Given the description of an element on the screen output the (x, y) to click on. 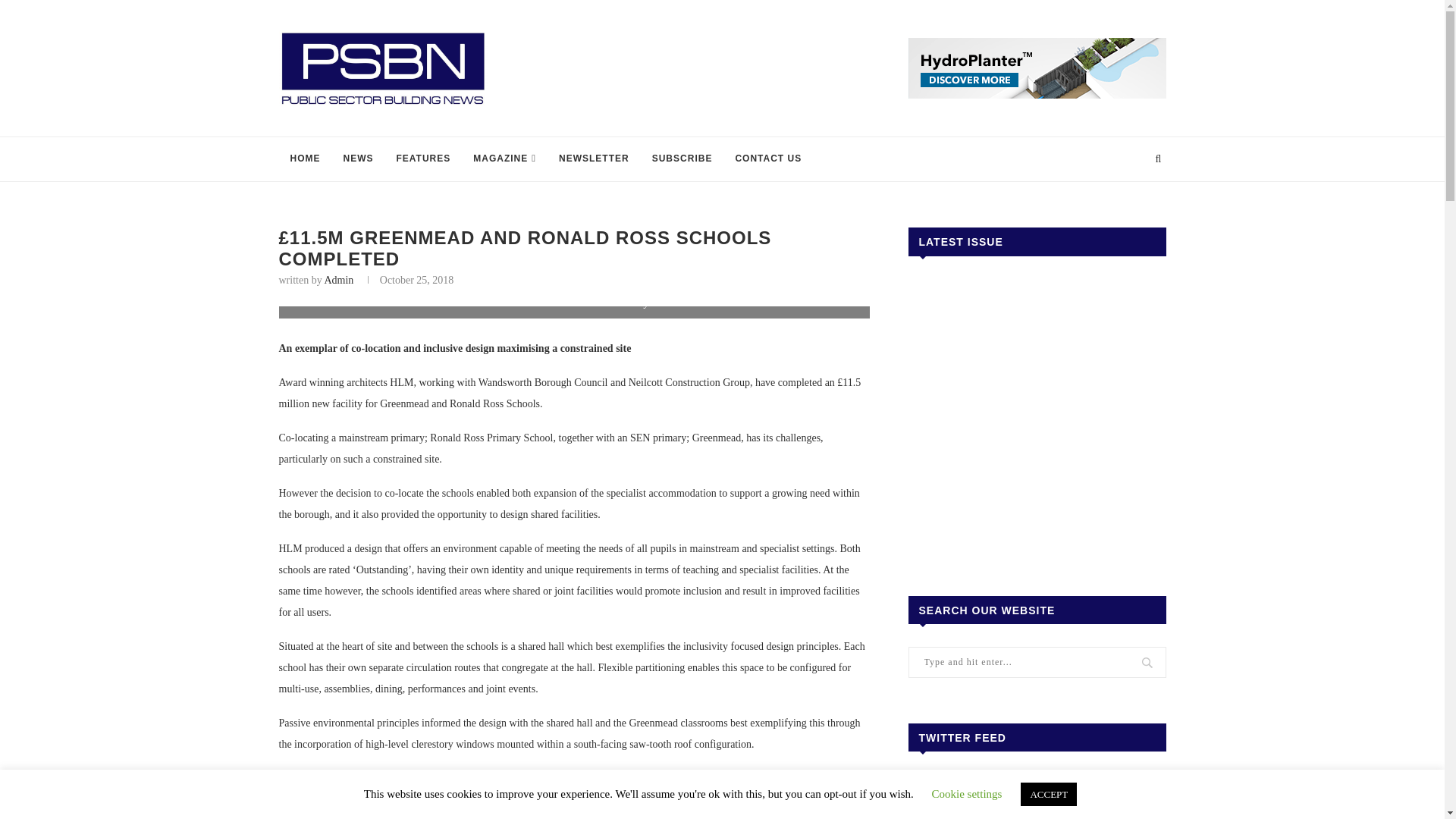
NEWS (358, 158)
SUBSCRIBE (681, 158)
HOME (305, 158)
MAGAZINE (504, 158)
FEATURES (424, 158)
CONTACT US (767, 158)
NEWSLETTER (593, 158)
Admin (338, 279)
